Given the description of an element on the screen output the (x, y) to click on. 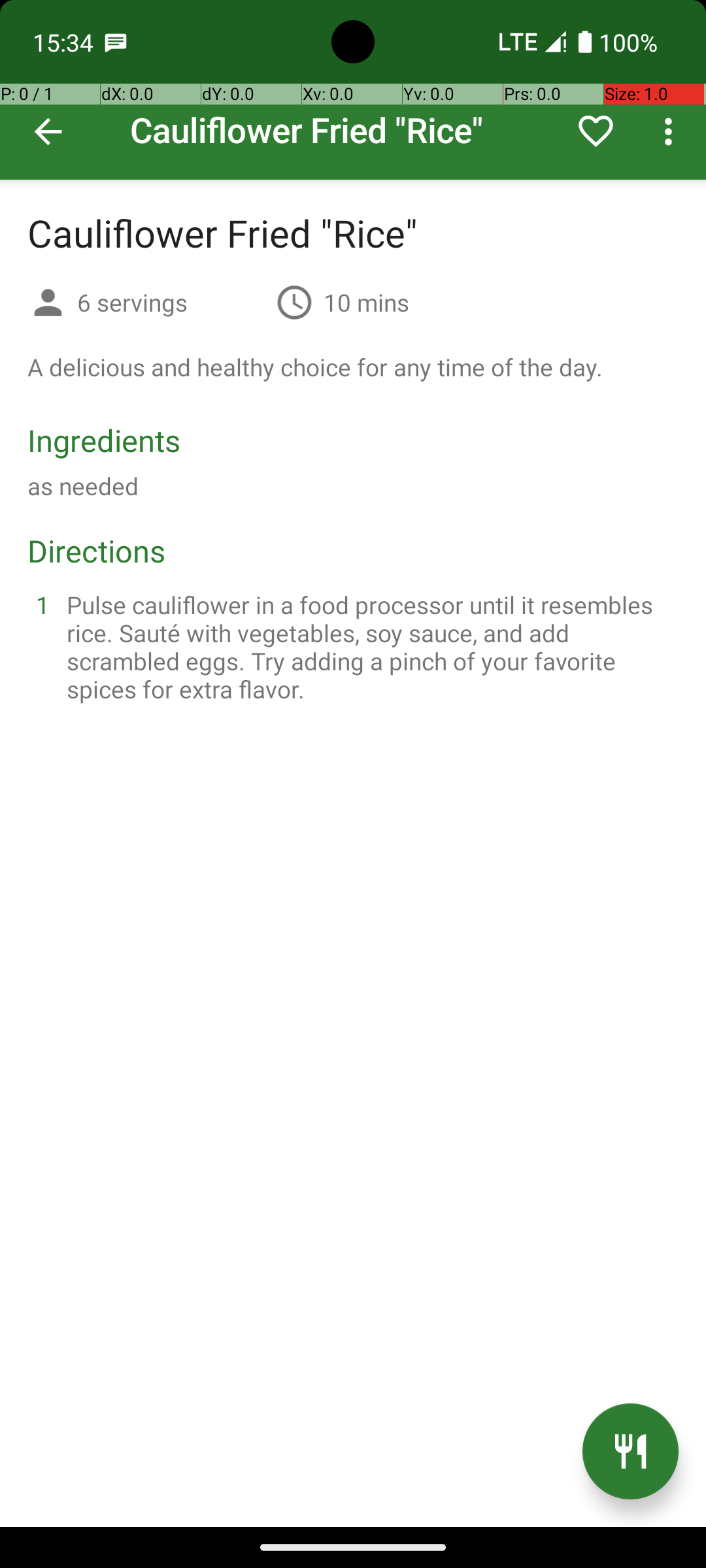
Pulse cauliflower in a food processor until it resembles rice. Sauté with vegetables, soy sauce, and add scrambled eggs. Try adding a pinch of your favorite spices for extra flavor. Element type: android.widget.TextView (368, 646)
